Given the description of an element on the screen output the (x, y) to click on. 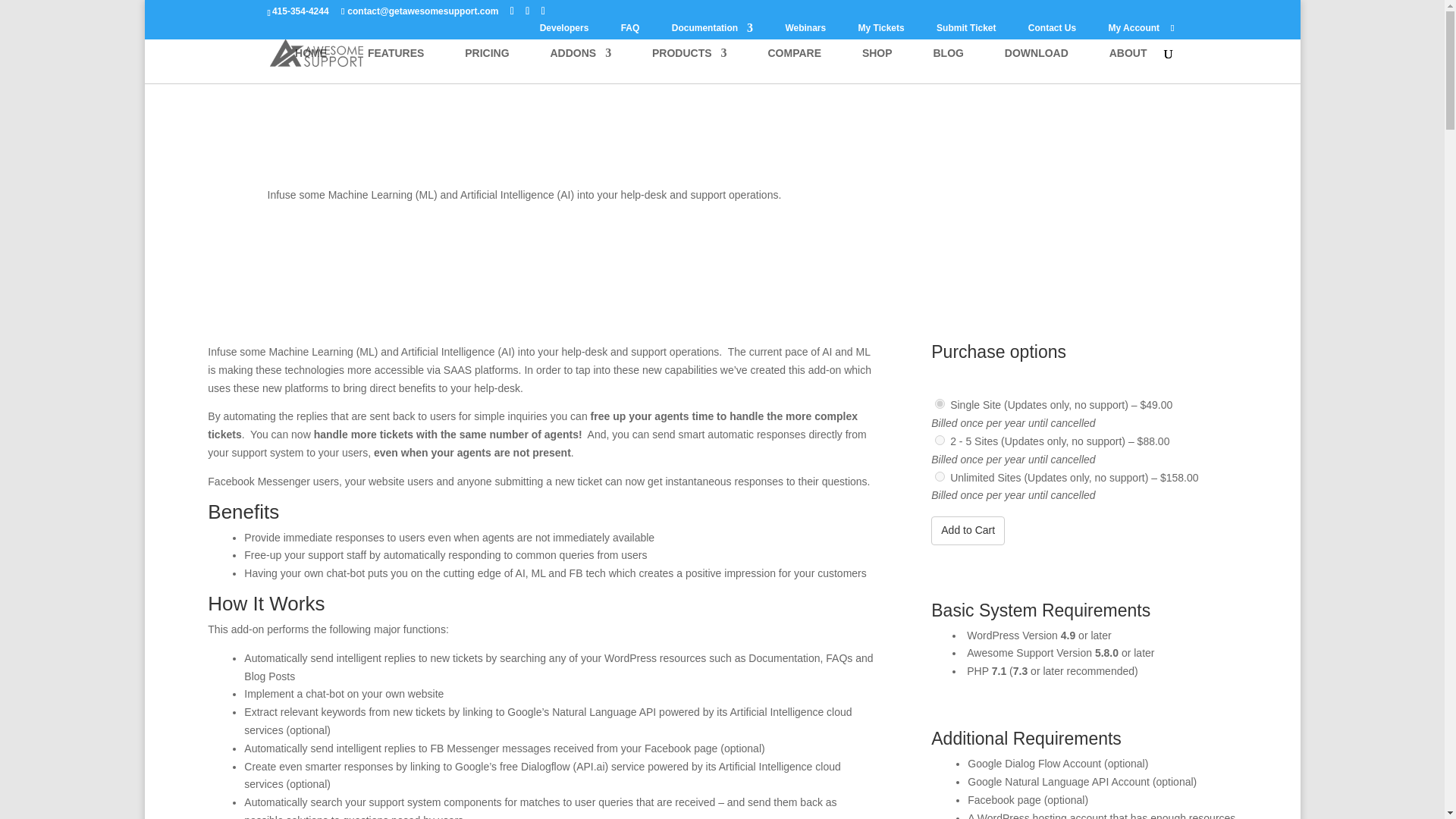
Submit Ticket (965, 31)
HOME (310, 65)
2 (939, 439)
PRODUCTS (689, 65)
1 (939, 403)
COMPARE (794, 65)
3 (939, 476)
Contact Us (1051, 31)
Documentation (711, 31)
FEATURES (395, 65)
